Given the description of an element on the screen output the (x, y) to click on. 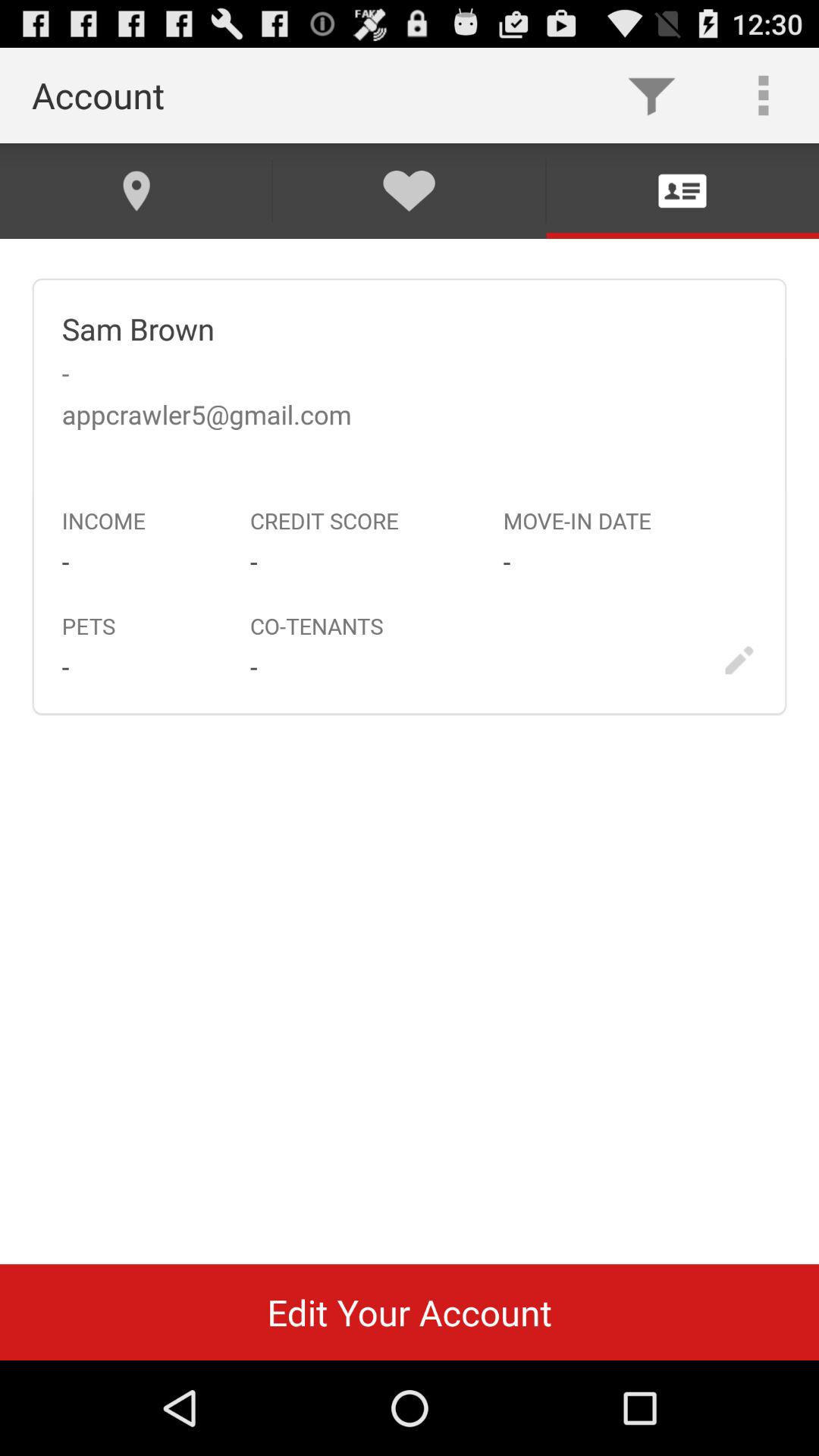
select the app to the right of account icon (651, 95)
